Given the description of an element on the screen output the (x, y) to click on. 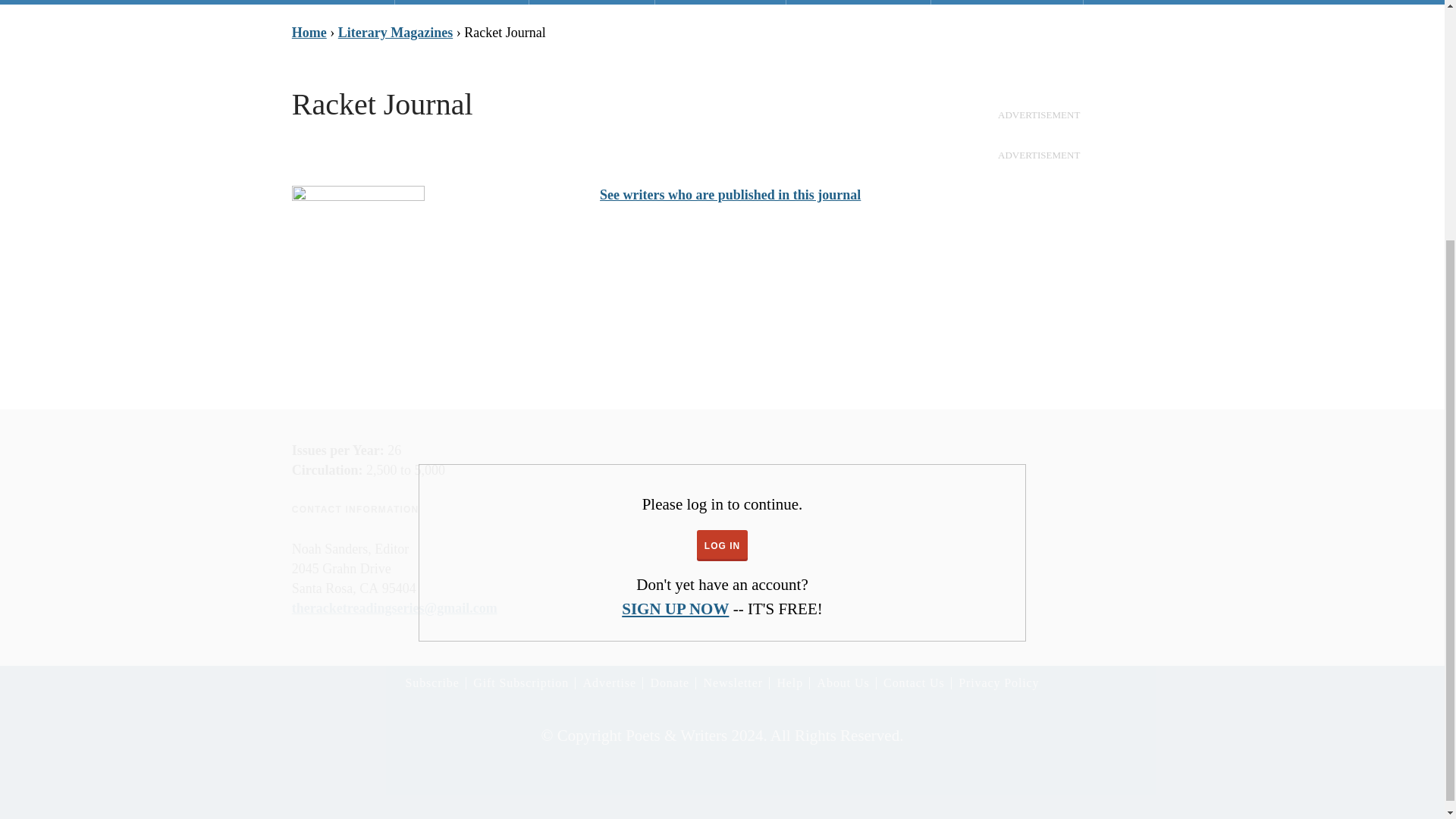
PROMOTE YOUR WRITING (461, 2)
PUBLISH YOUR WRITING (330, 2)
Publish Your Writing (330, 2)
